Given the description of an element on the screen output the (x, y) to click on. 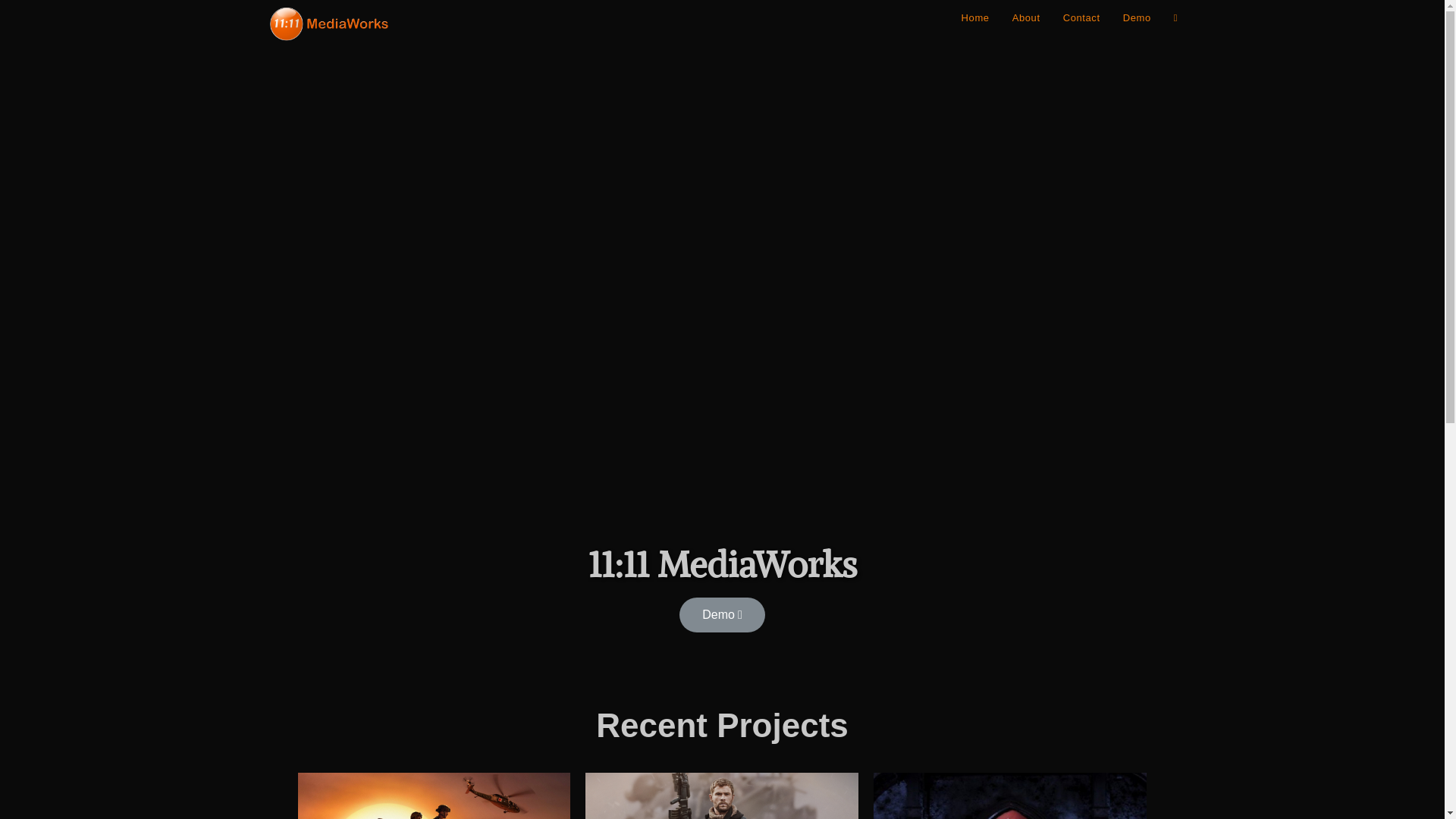
About Element type: text (1026, 17)
Contact Element type: text (1081, 17)
Home Element type: text (975, 17)
Demo Element type: text (1136, 17)
Demo Element type: text (722, 614)
